Given the description of an element on the screen output the (x, y) to click on. 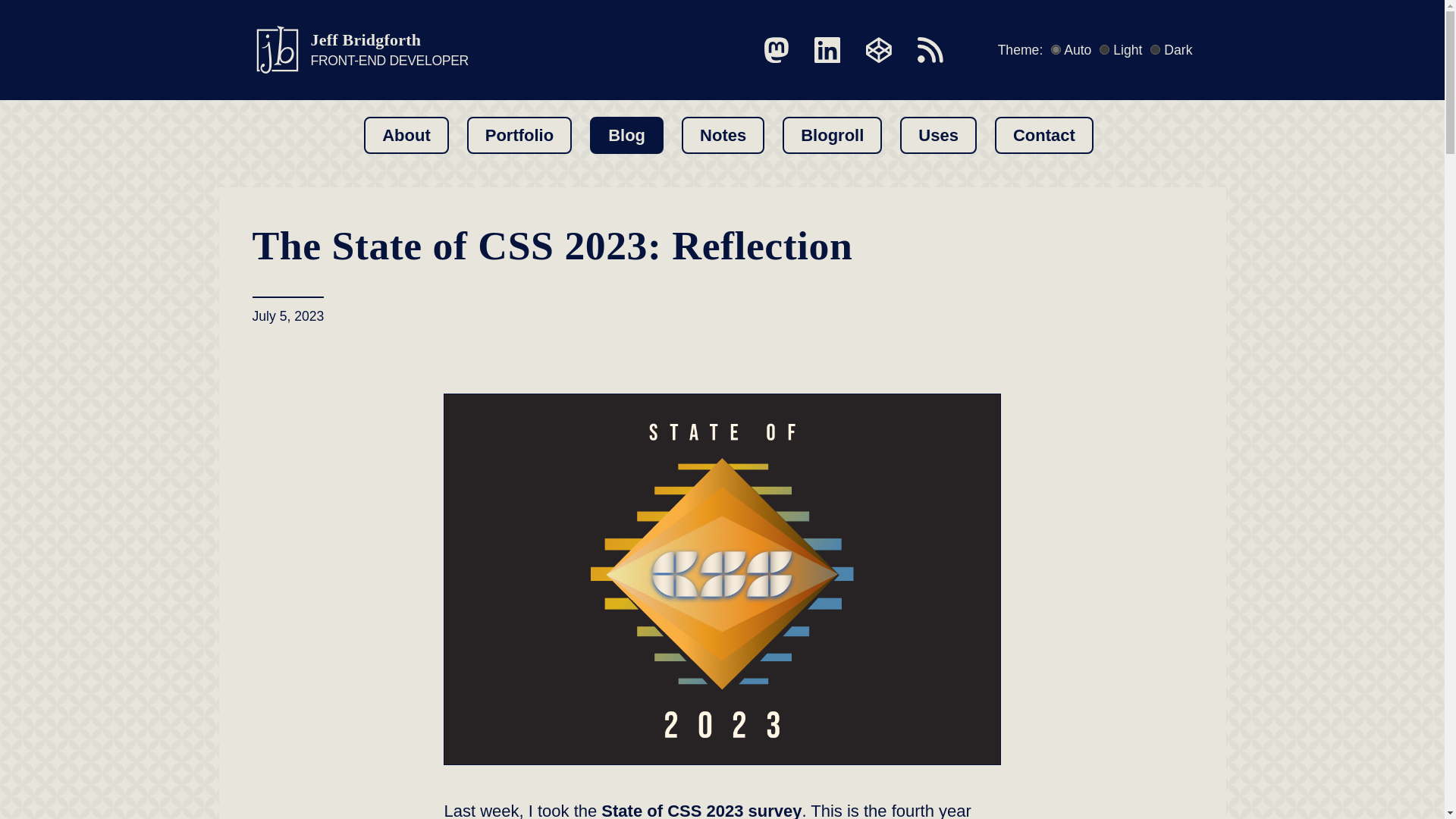
auto (1056, 49)
light (1104, 49)
LinkedIn (826, 49)
Uses (359, 50)
Mastodon (937, 135)
Contact (776, 49)
dark (1043, 135)
About (1155, 49)
Blog (406, 135)
Blogroll (626, 135)
State of CSS 2023 survey (832, 135)
Feed (701, 810)
Notes (929, 49)
Codepen (722, 135)
